Given the description of an element on the screen output the (x, y) to click on. 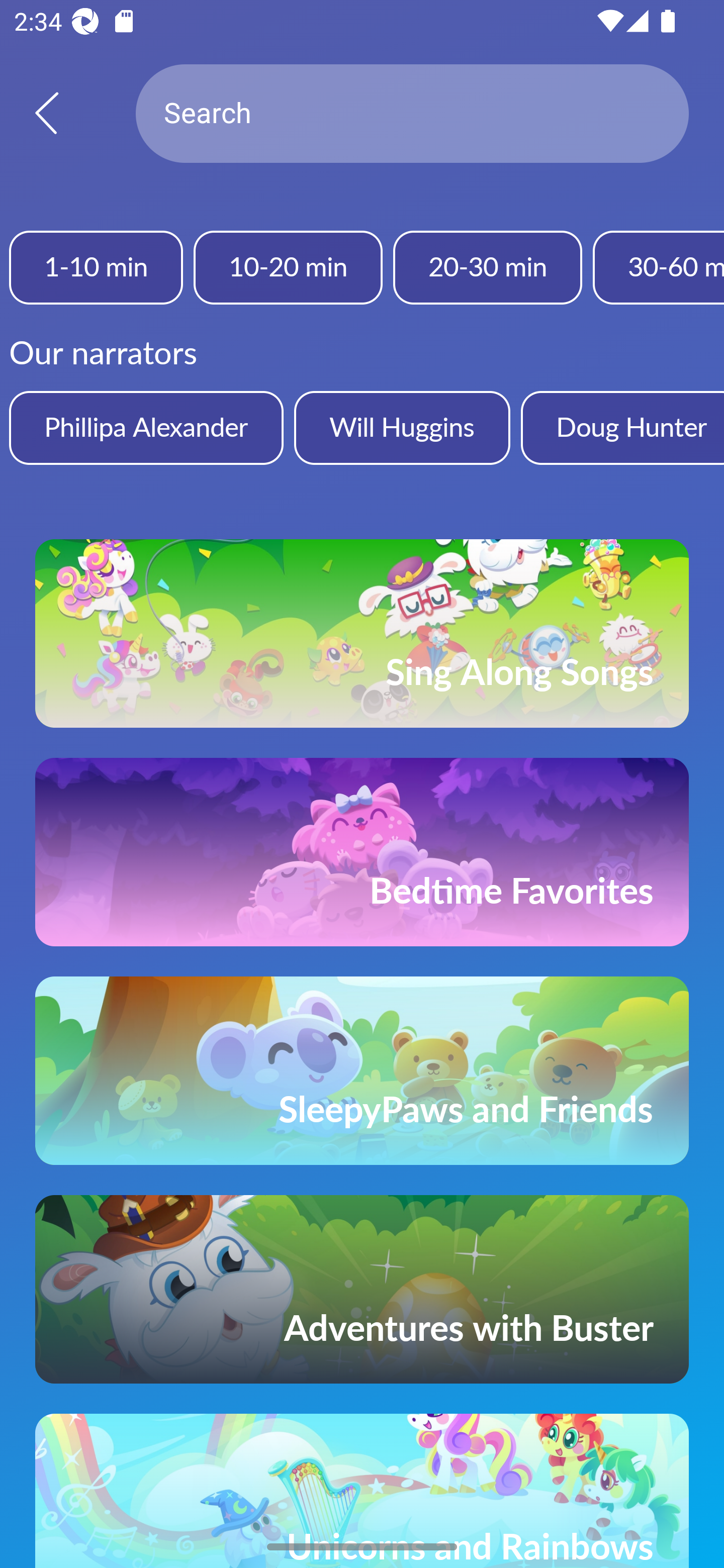
Search (412, 113)
1-10 min (95, 267)
10-20 min (287, 267)
20-30 min (487, 267)
30-60 min (658, 267)
Phillipa Alexander (145, 427)
Will Huggins (401, 427)
Doug Hunter (622, 427)
Sing Along Songs (361, 633)
Bedtime Favorites (361, 852)
SleepyPaws and Friends (361, 1070)
Adventures with Buster (361, 1288)
Unicorns and Rainbows (361, 1491)
